Given the description of an element on the screen output the (x, y) to click on. 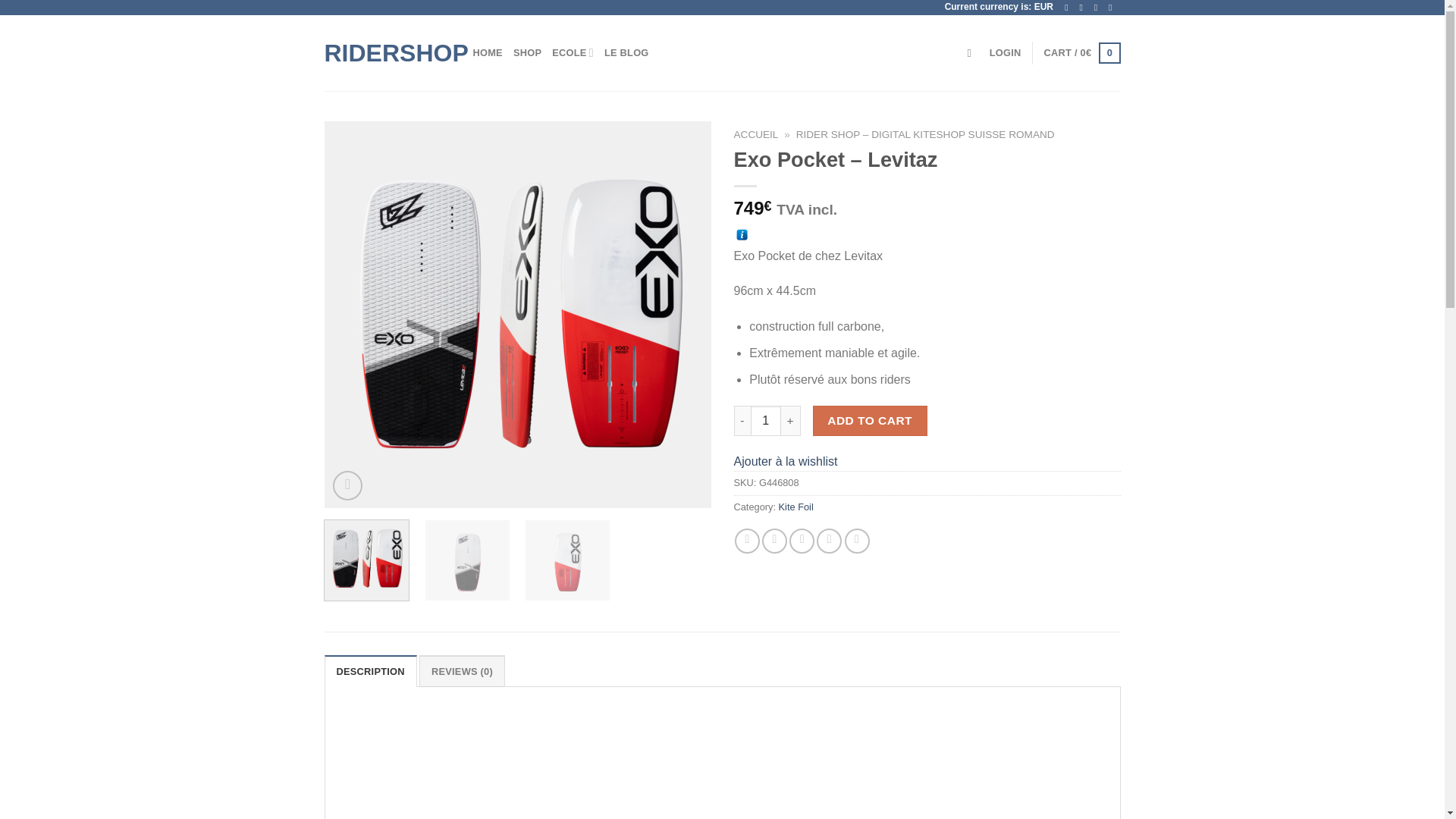
RIDERSHOP (386, 52)
LOGIN (1006, 52)
Kite Foil (795, 506)
Share on Facebook (747, 540)
Zoom (347, 485)
ACCUEIL (755, 134)
HOME (487, 52)
LE BLOG (626, 52)
RiderShop - Le kiteshop Romand (386, 52)
SHOP (527, 52)
1 (765, 420)
Share on Twitter (774, 540)
ADD TO CART (869, 420)
Cart (1082, 52)
ECOLE (572, 52)
